Given the description of an element on the screen output the (x, y) to click on. 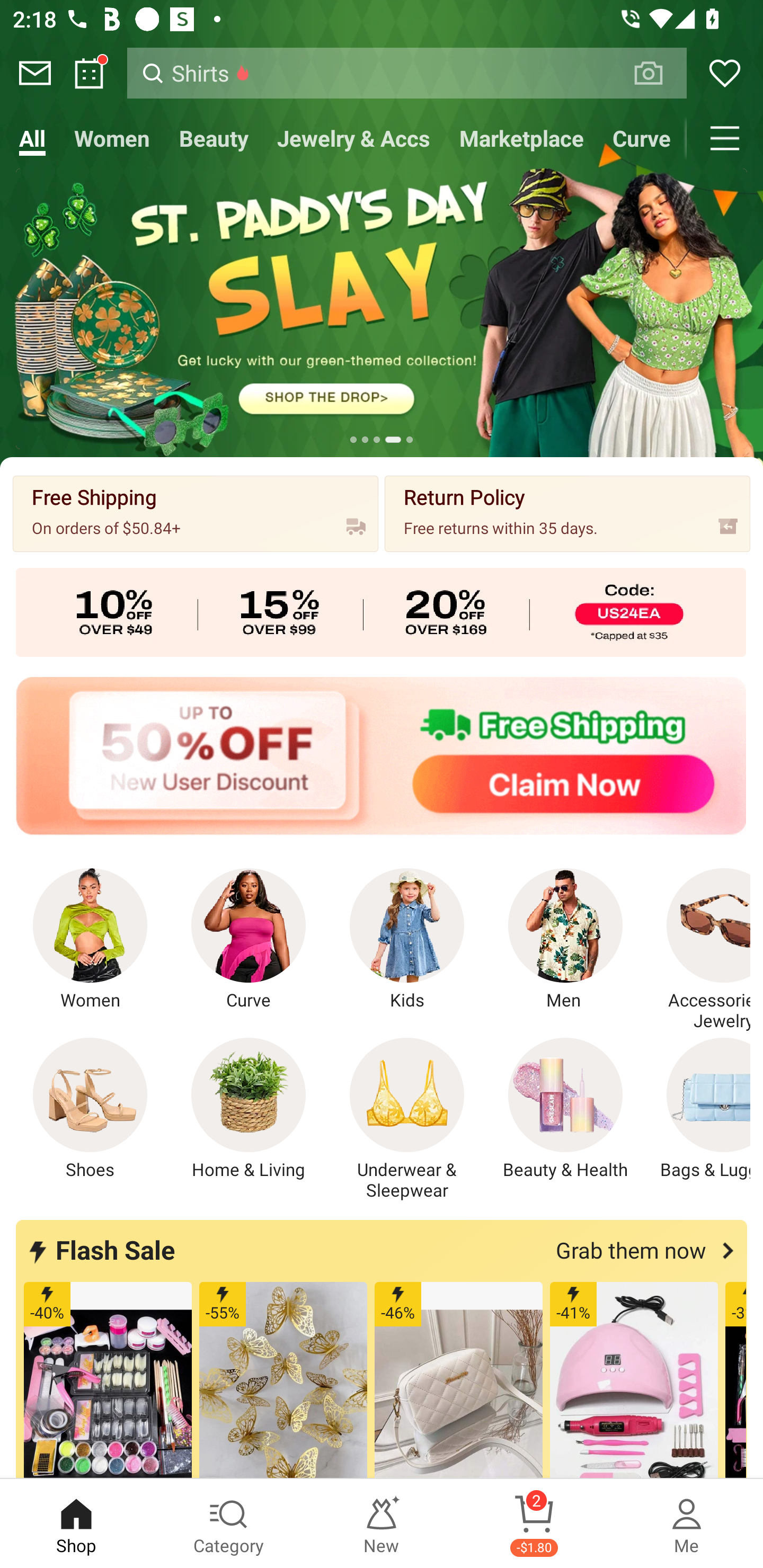
Wishlist (724, 72)
VISUAL SEARCH (657, 72)
All (31, 137)
Women (111, 137)
Beauty (213, 137)
Jewelry & Accs (353, 137)
Marketplace (521, 137)
Curve (641, 137)
Free Shipping On orders of $50.84+ (195, 513)
Return Policy Free returns within 35 days. (567, 513)
Women (89, 939)
Curve (248, 939)
Kids (406, 939)
Men  (565, 939)
Accessories & Jewelry (698, 949)
Shoes (89, 1109)
Home & Living (248, 1109)
Underwear & Sleepwear (406, 1119)
Beauty & Health (565, 1109)
Bags & Luggage (698, 1109)
Category (228, 1523)
New (381, 1523)
Cart 2 -$1.80 (533, 1523)
Me (686, 1523)
